Given the description of an element on the screen output the (x, y) to click on. 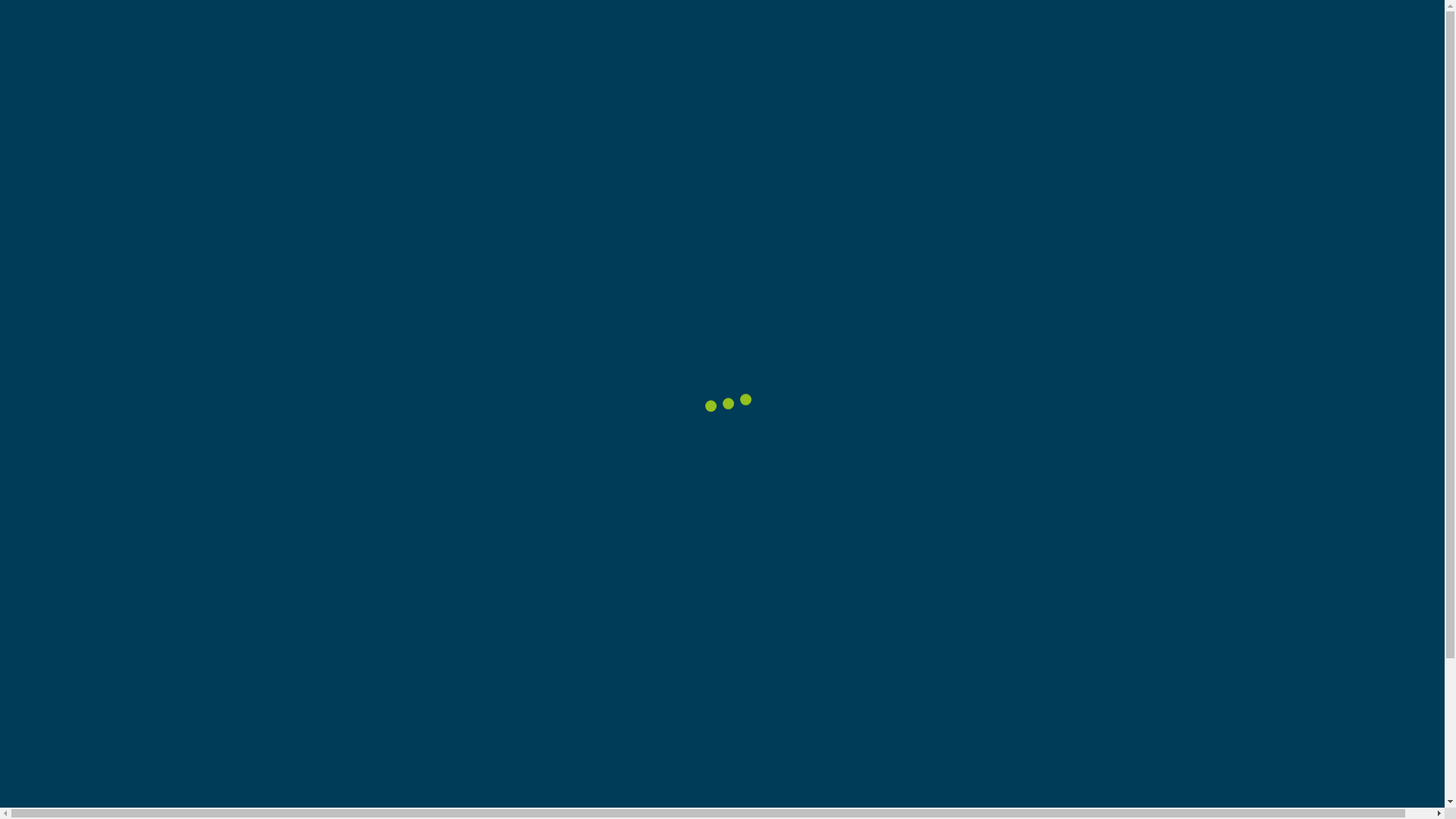
LE PROJET Element type: text (757, 45)
Je m'inscris Element type: text (1032, 614)
Language switcher : English Element type: hover (1333, 46)
RECRUTEMENT Element type: text (1219, 45)
Projet Element type: text (280, 166)
